Given the description of an element on the screen output the (x, y) to click on. 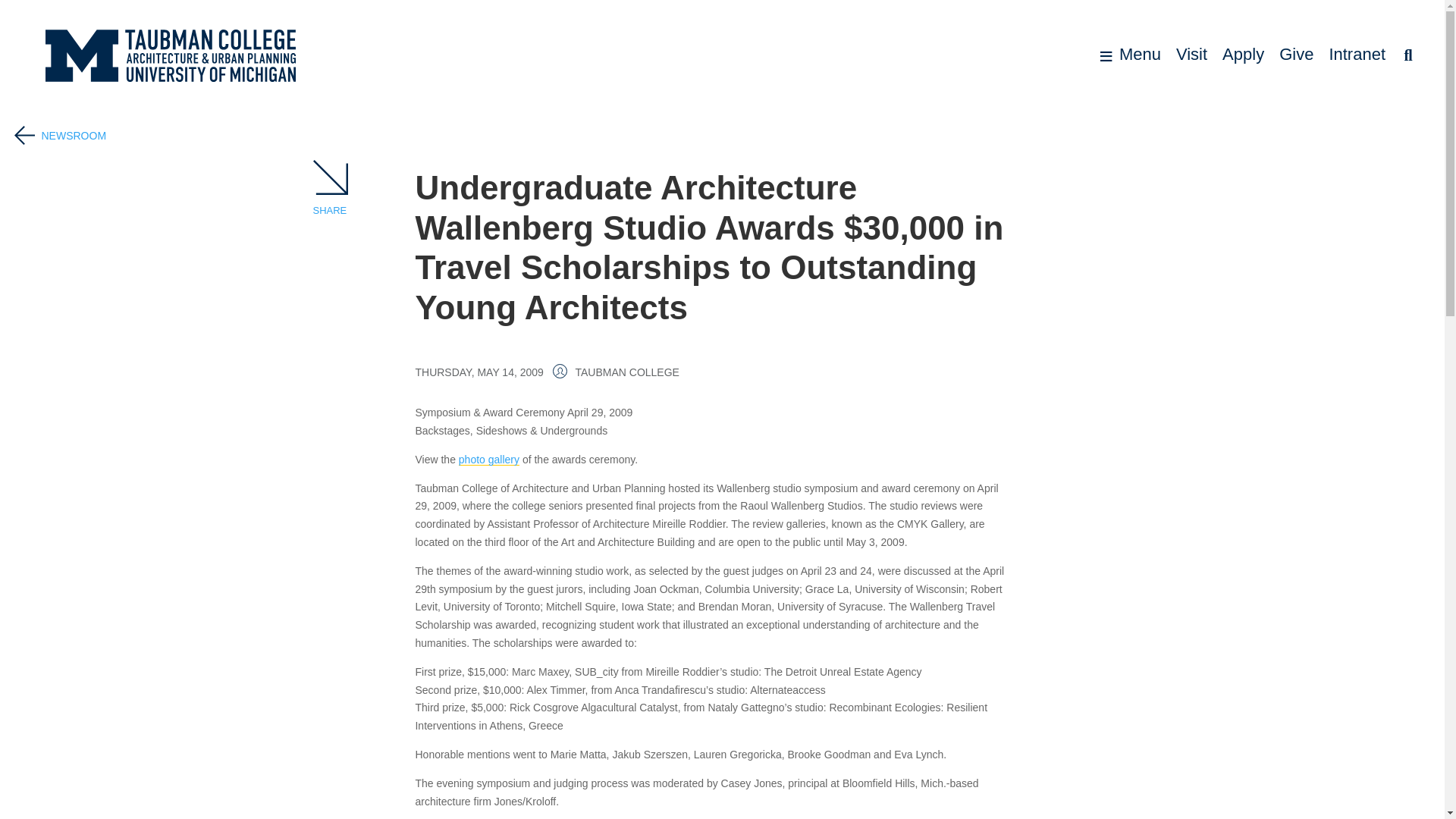
Menu (1129, 54)
